Given the description of an element on the screen output the (x, y) to click on. 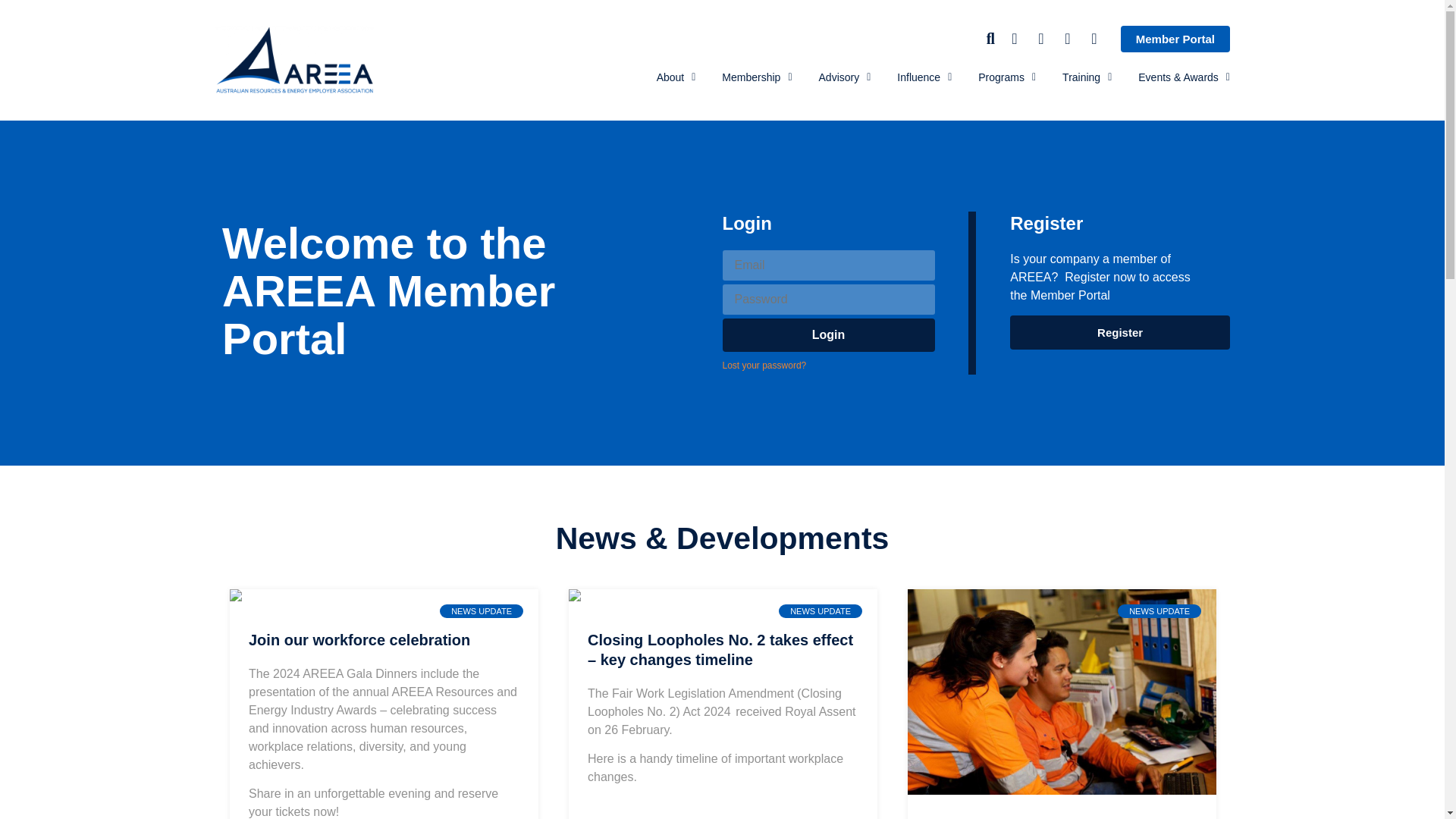
Login (828, 335)
Membership (757, 77)
Member Portal (1175, 38)
Influence (924, 77)
Programs (1006, 77)
Training (1087, 77)
About (675, 77)
Advisory (844, 77)
